Given the description of an element on the screen output the (x, y) to click on. 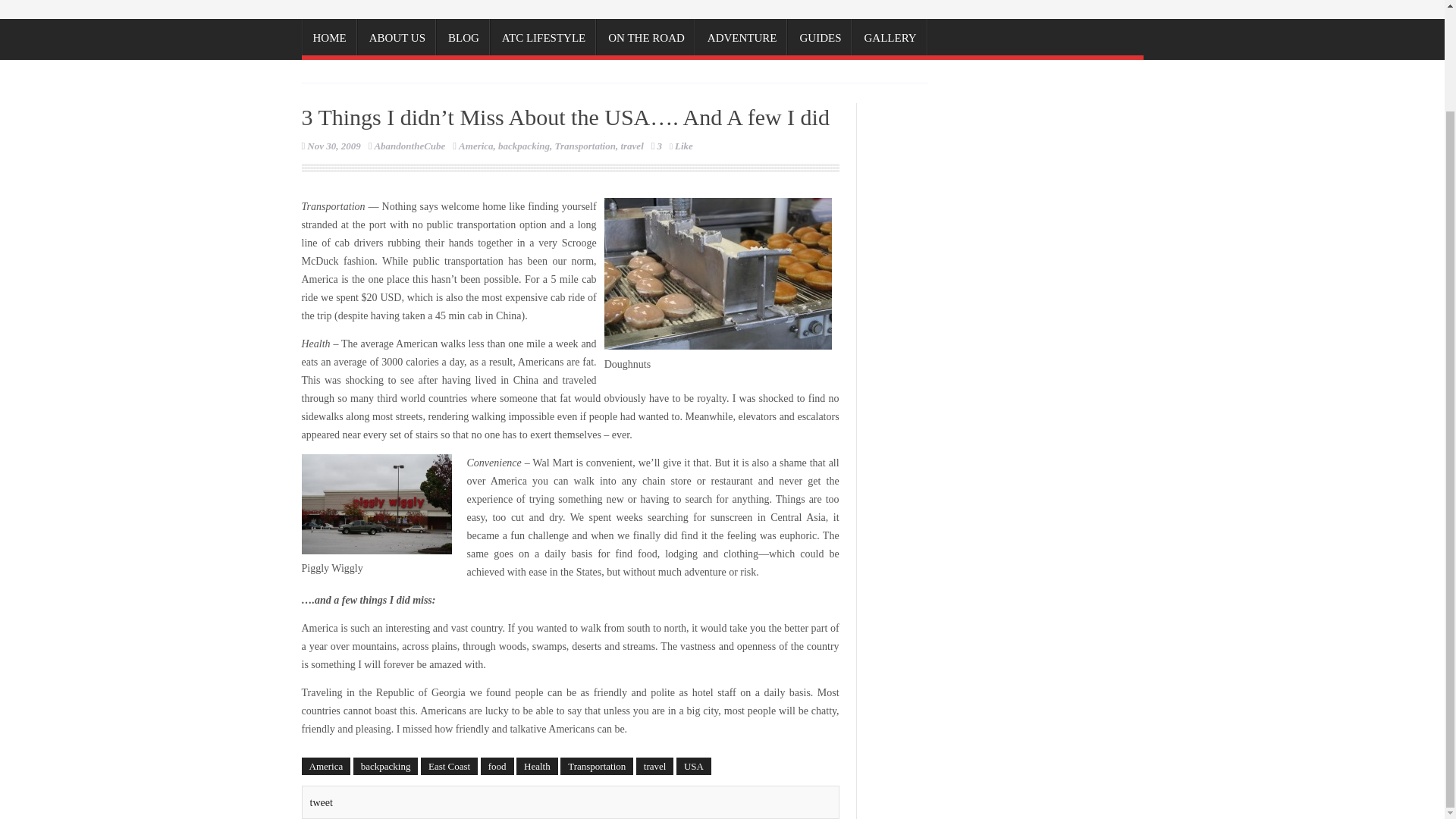
Like (681, 145)
Posts by AbandontheCube (409, 145)
usa two (717, 273)
usa one (376, 504)
